Given the description of an element on the screen output the (x, y) to click on. 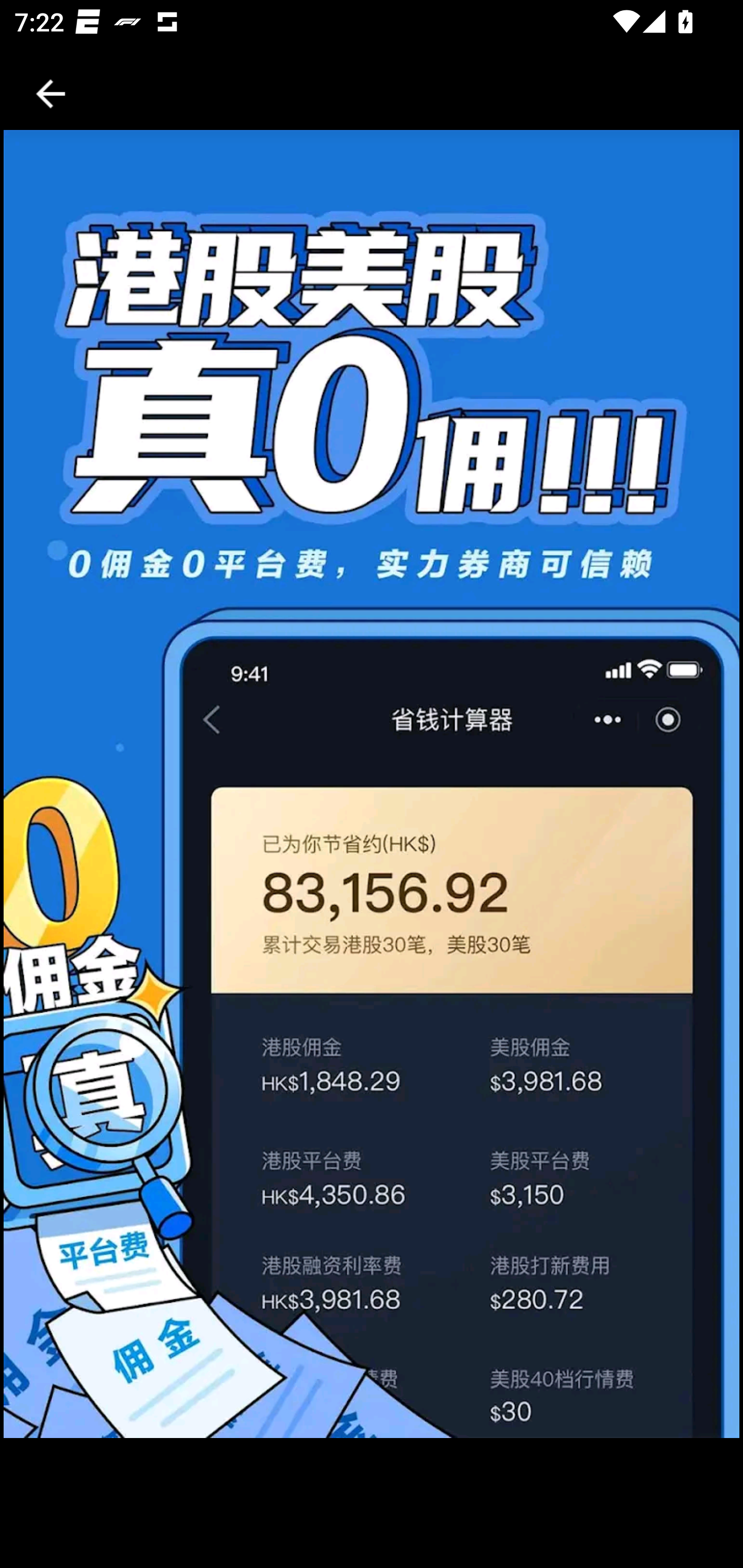
Back (50, 93)
